Given the description of an element on the screen output the (x, y) to click on. 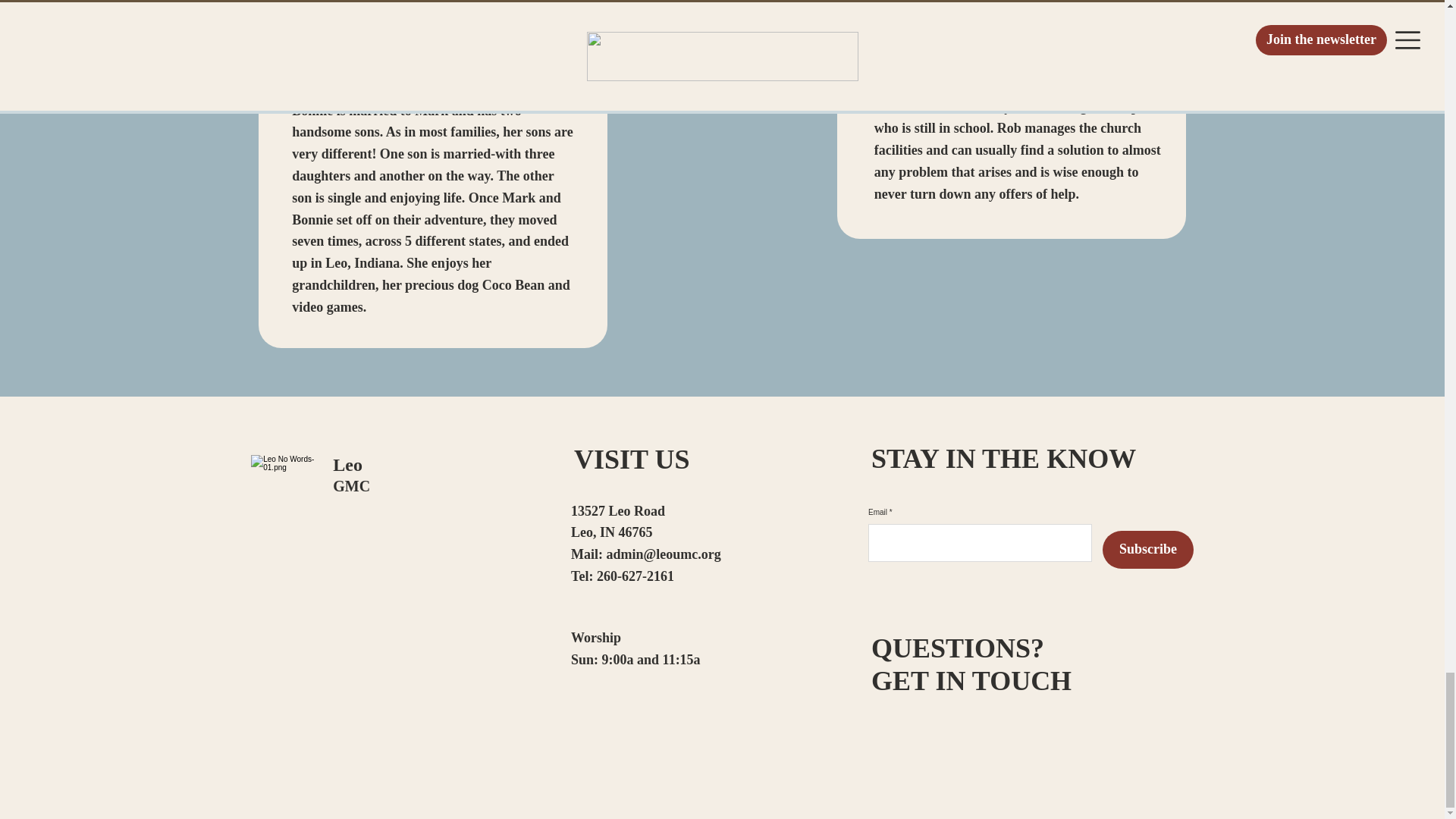
Leo (347, 465)
Subscribe (1147, 549)
GMC (351, 485)
